Given the description of an element on the screen output the (x, y) to click on. 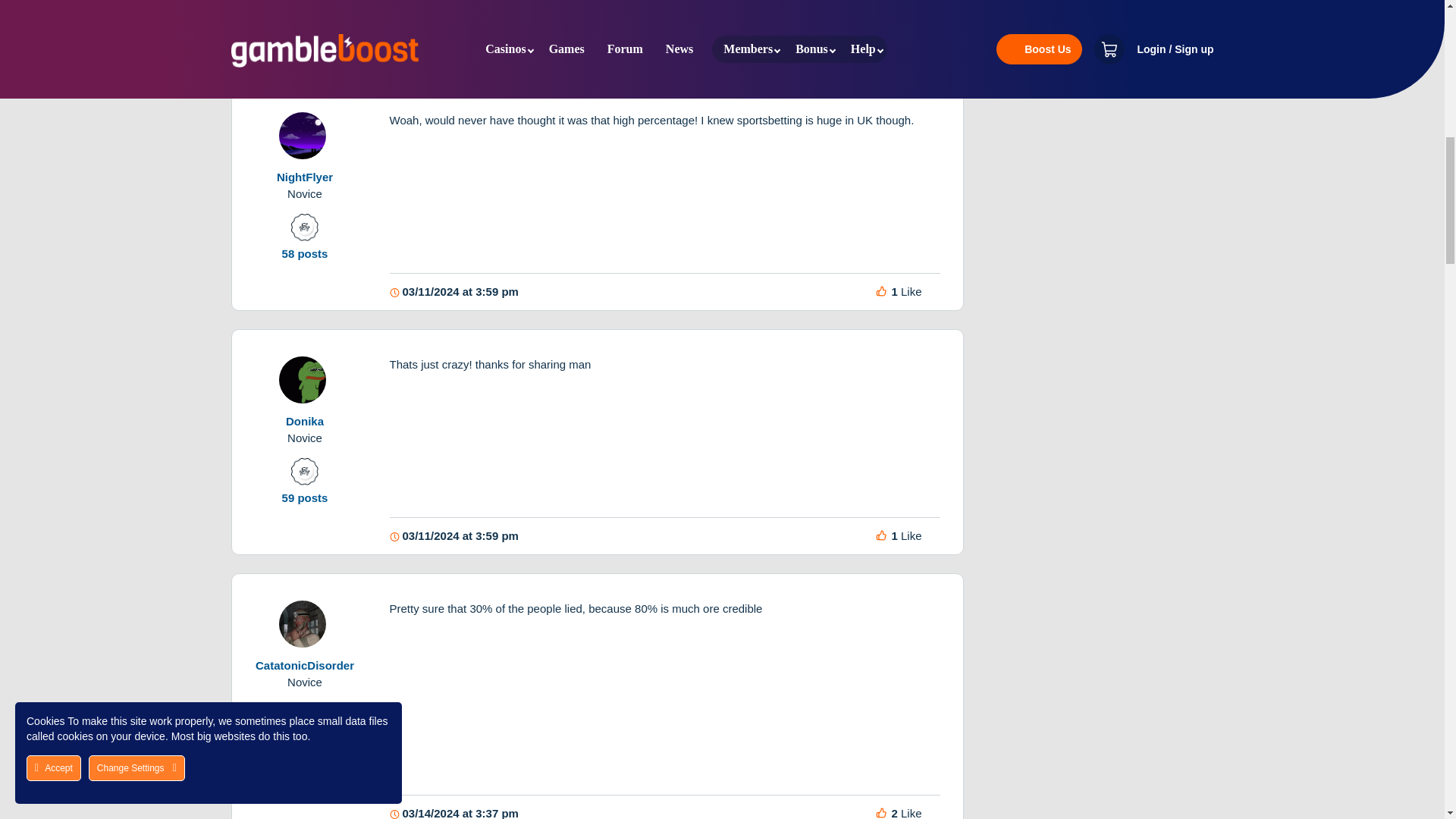
View CatatonicDisorder's profile (304, 636)
View NightFlyer's profile (304, 148)
View Donika's profile (304, 392)
